Given the description of an element on the screen output the (x, y) to click on. 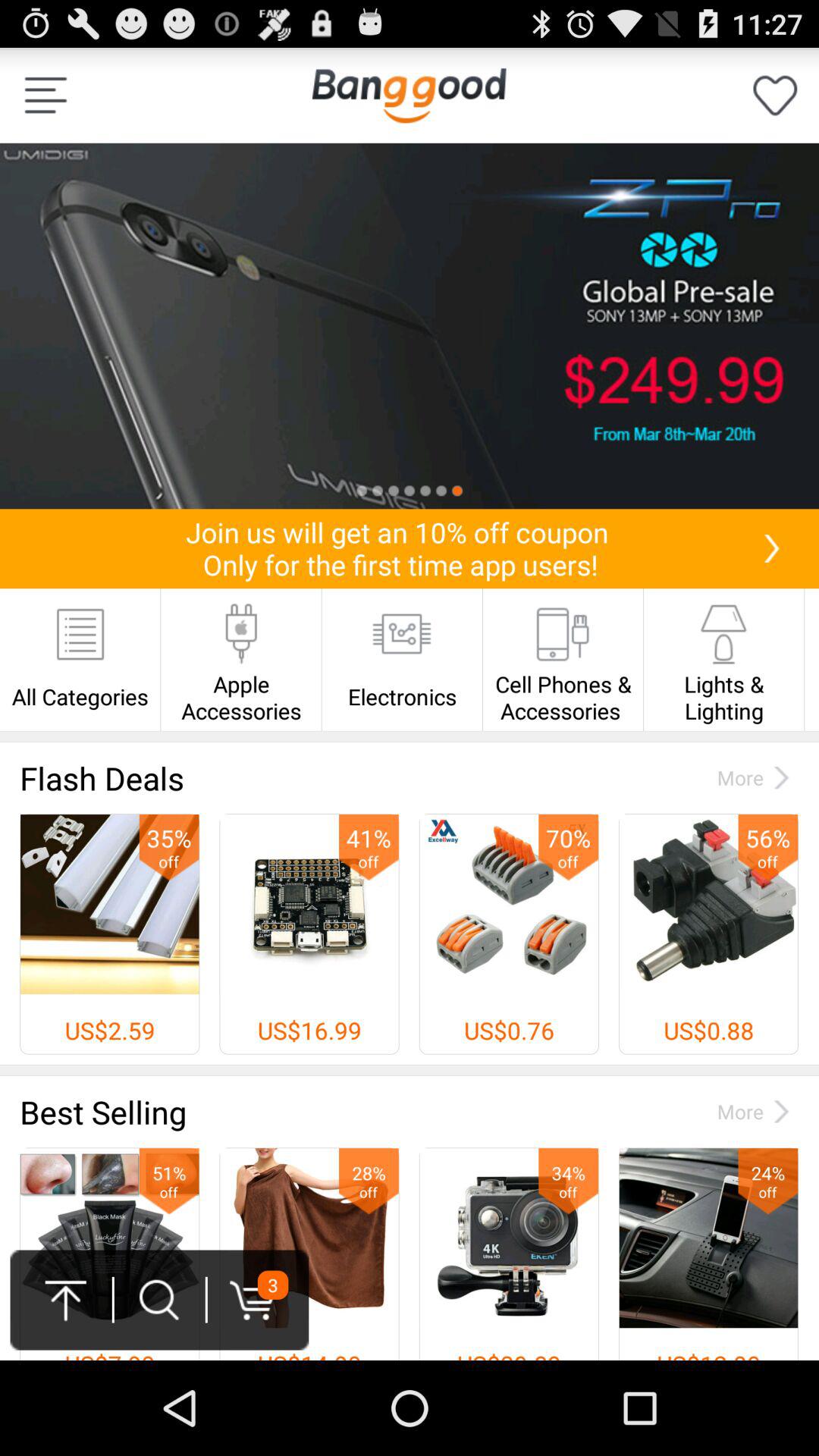
sales option (409, 326)
